Given the description of an element on the screen output the (x, y) to click on. 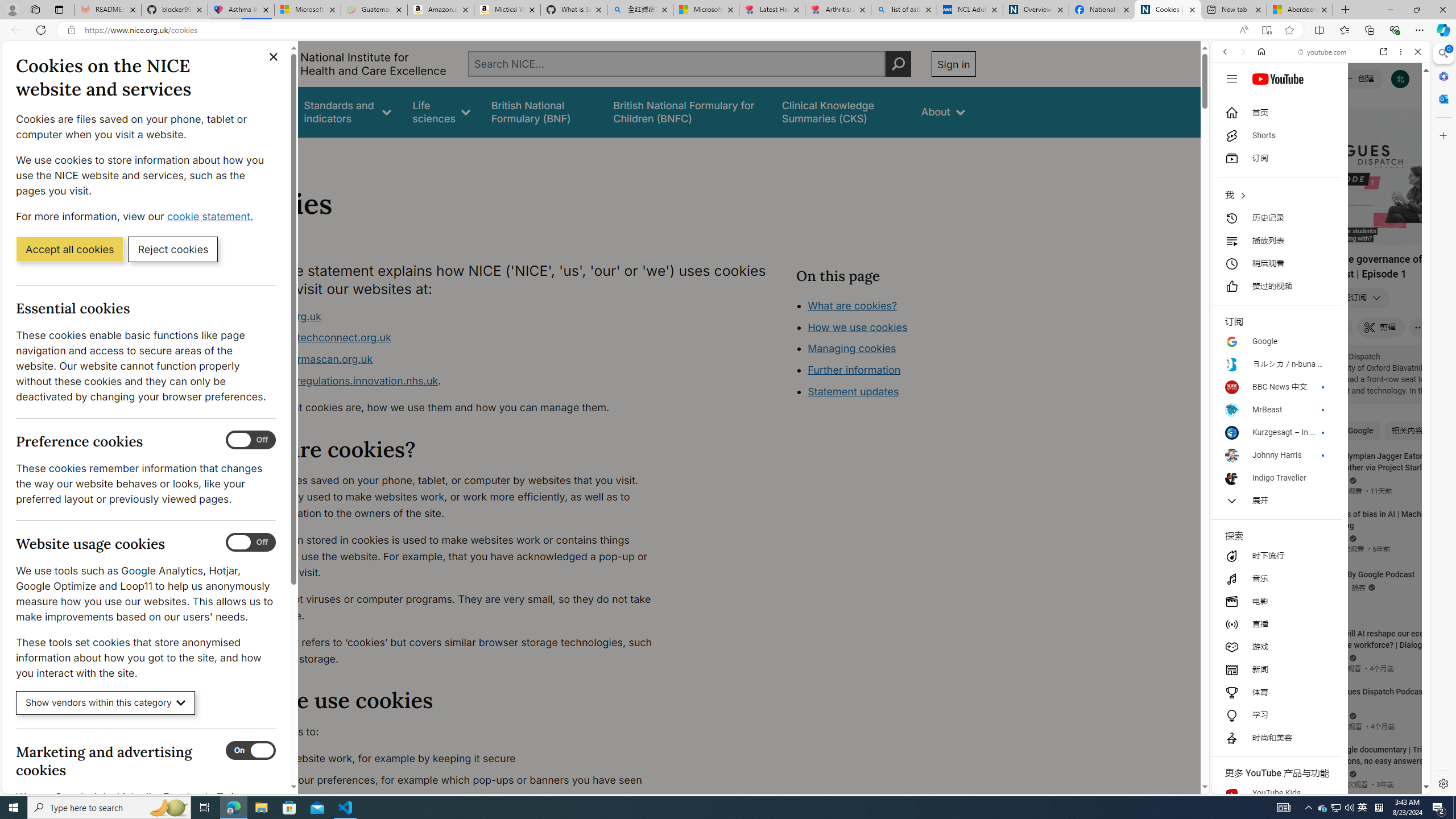
Search videos from youtube.com (1299, 373)
false (841, 111)
Arthritis: Ask Health Professionals (838, 9)
Class: ytp-subtitles-button-icon (1368, 234)
you (1315, 755)
www.healthtechconnect.org.uk (452, 338)
What are cookies? (852, 305)
Search Filter, VIDEOS (1300, 129)
